Given the description of an element on the screen output the (x, y) to click on. 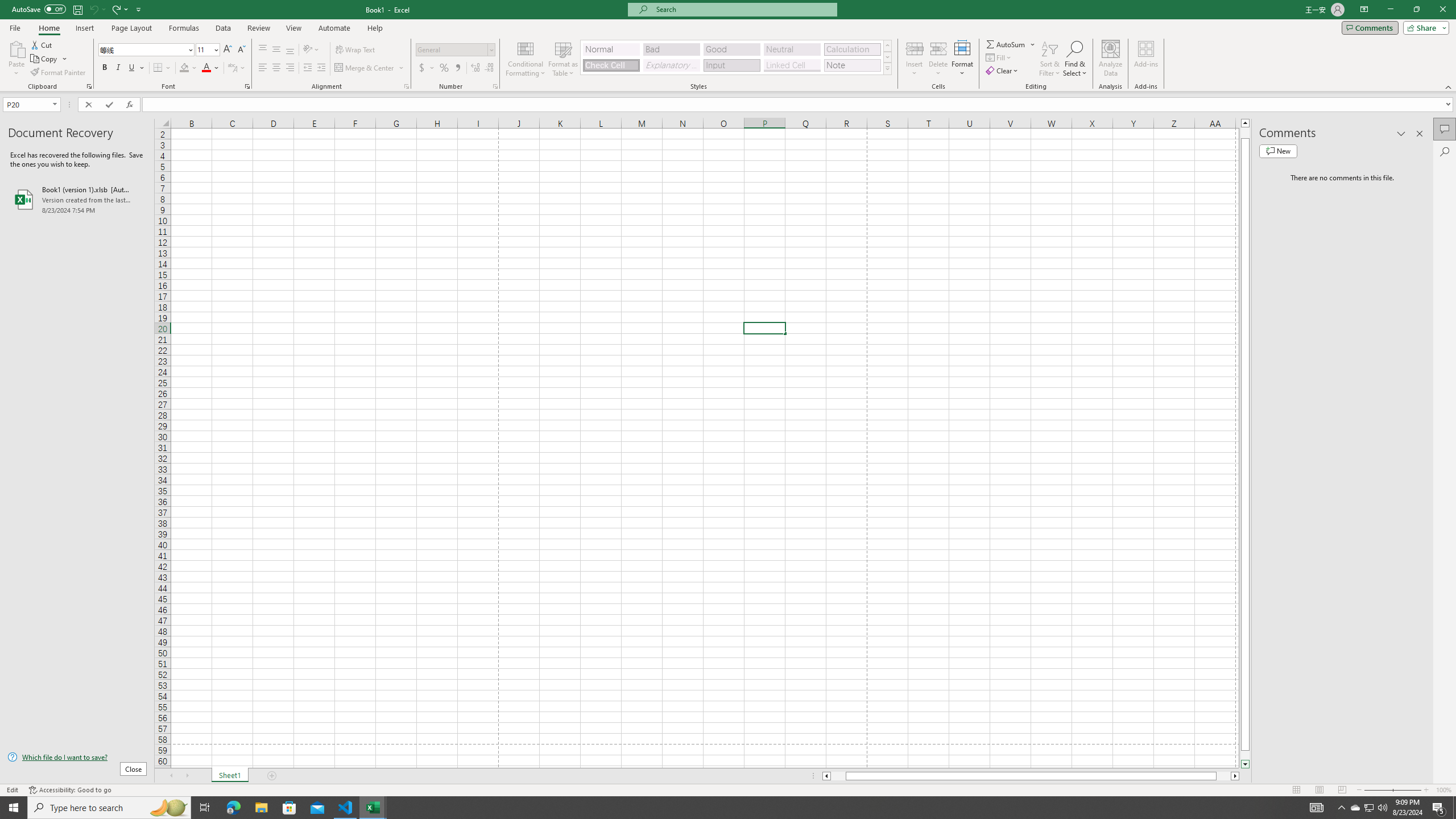
New comment (1278, 151)
Underline (131, 67)
Font Size (204, 49)
Center (276, 67)
Copy (45, 58)
Bad (671, 49)
Font (147, 49)
Merge & Center (365, 67)
Merge & Center (369, 67)
